Given the description of an element on the screen output the (x, y) to click on. 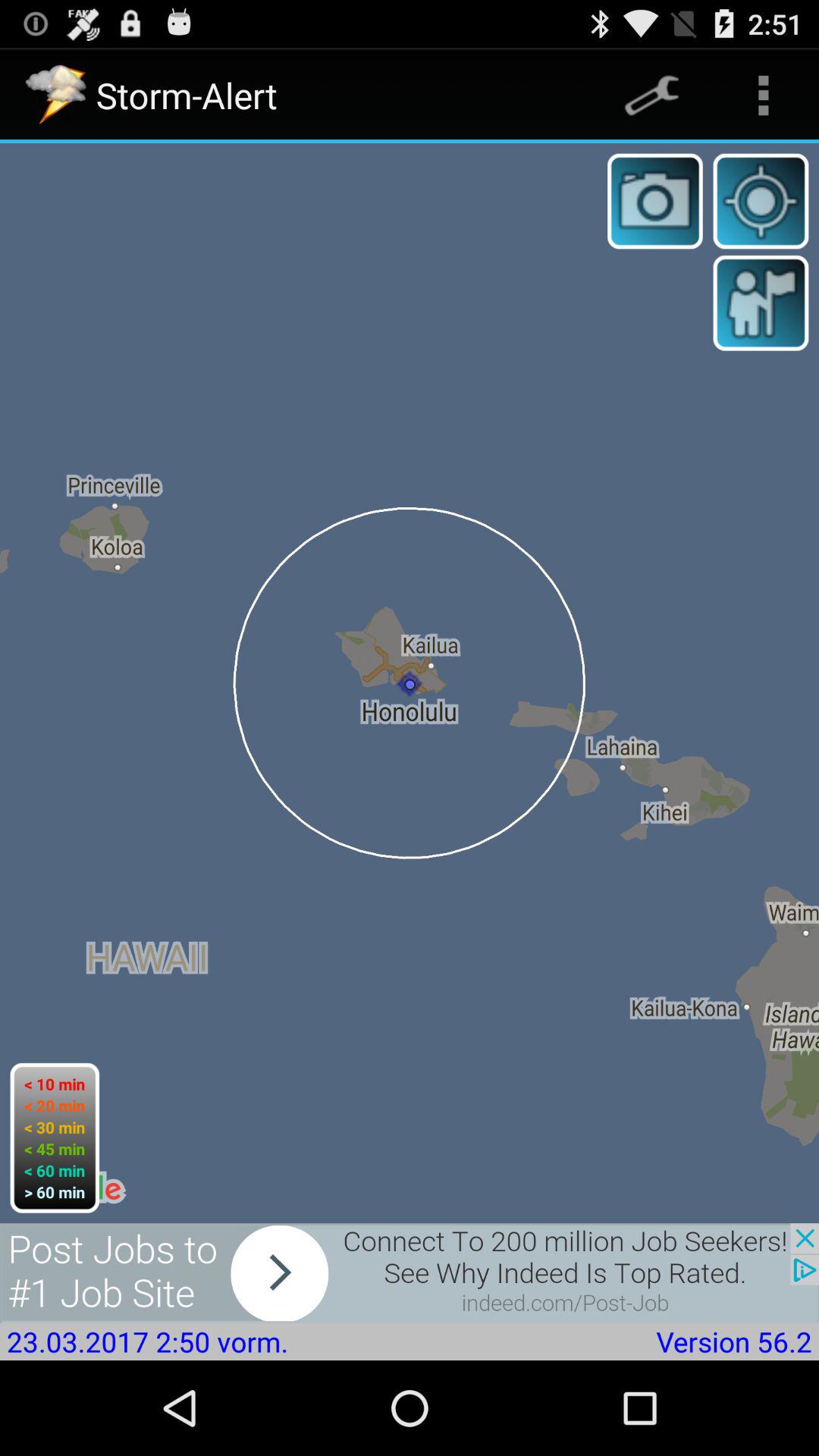
take photo (654, 201)
